Given the description of an element on the screen output the (x, y) to click on. 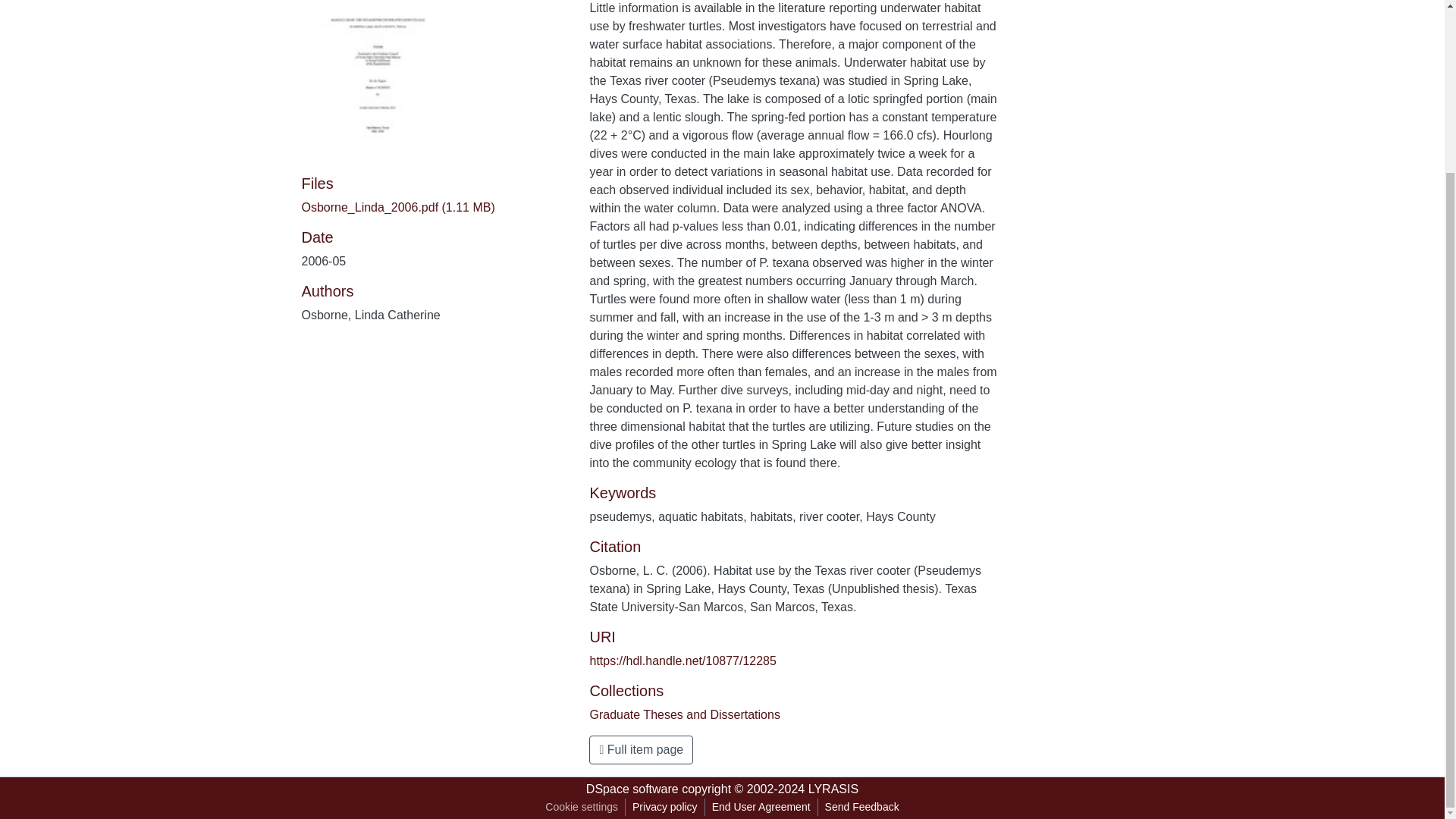
Privacy policy (665, 806)
DSpace software (632, 788)
LYRASIS (833, 788)
Cookie settings (581, 806)
Full item page (641, 749)
Send Feedback (861, 806)
End User Agreement (760, 806)
Graduate Theses and Dissertations (683, 714)
